Given the description of an element on the screen output the (x, y) to click on. 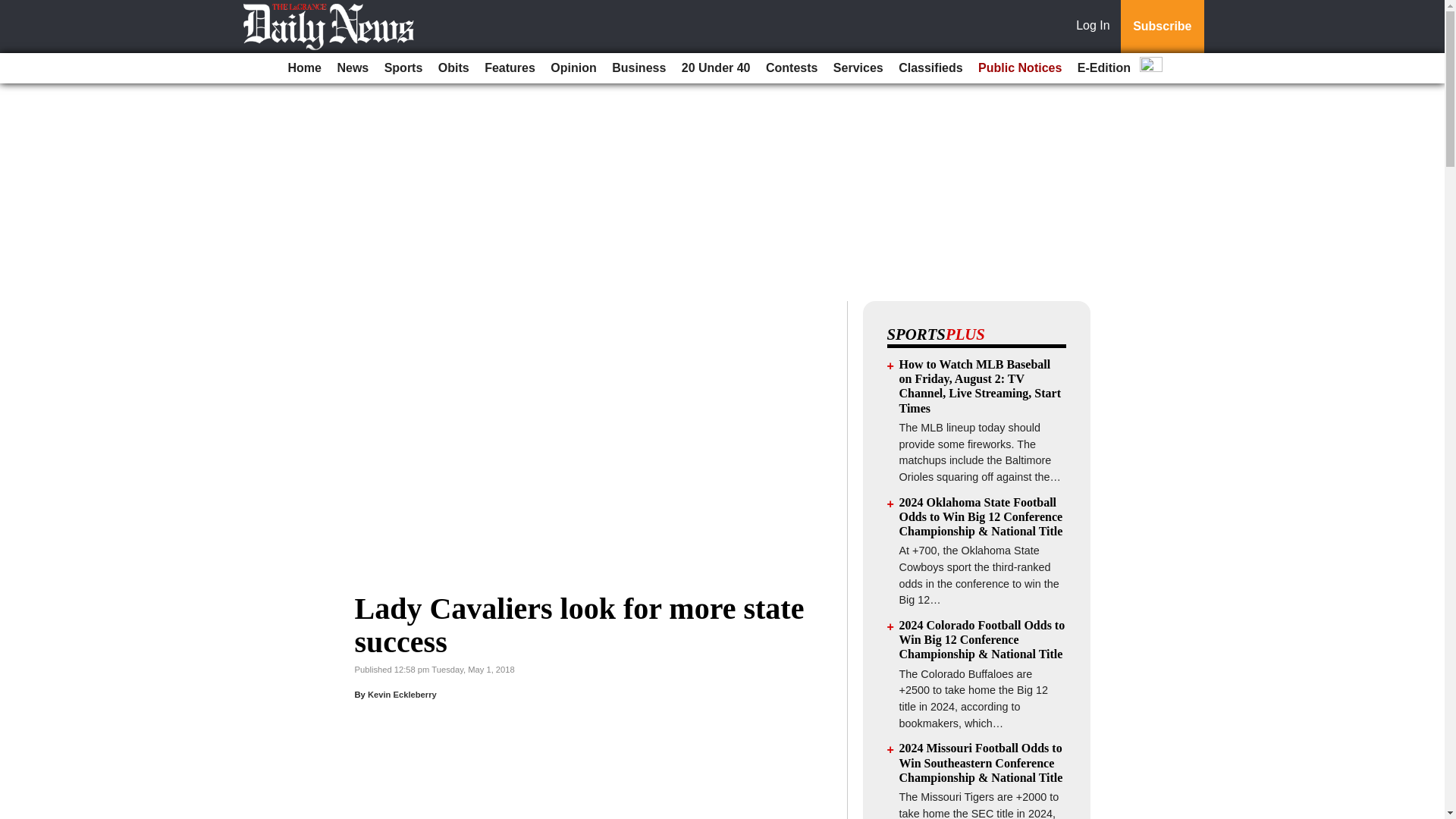
Public Notices (1019, 68)
Features (510, 68)
Obits (454, 68)
Services (858, 68)
20 Under 40 (716, 68)
Business (638, 68)
Go (13, 9)
Contests (792, 68)
Kevin Eckleberry (402, 694)
Classifieds (930, 68)
